Given the description of an element on the screen output the (x, y) to click on. 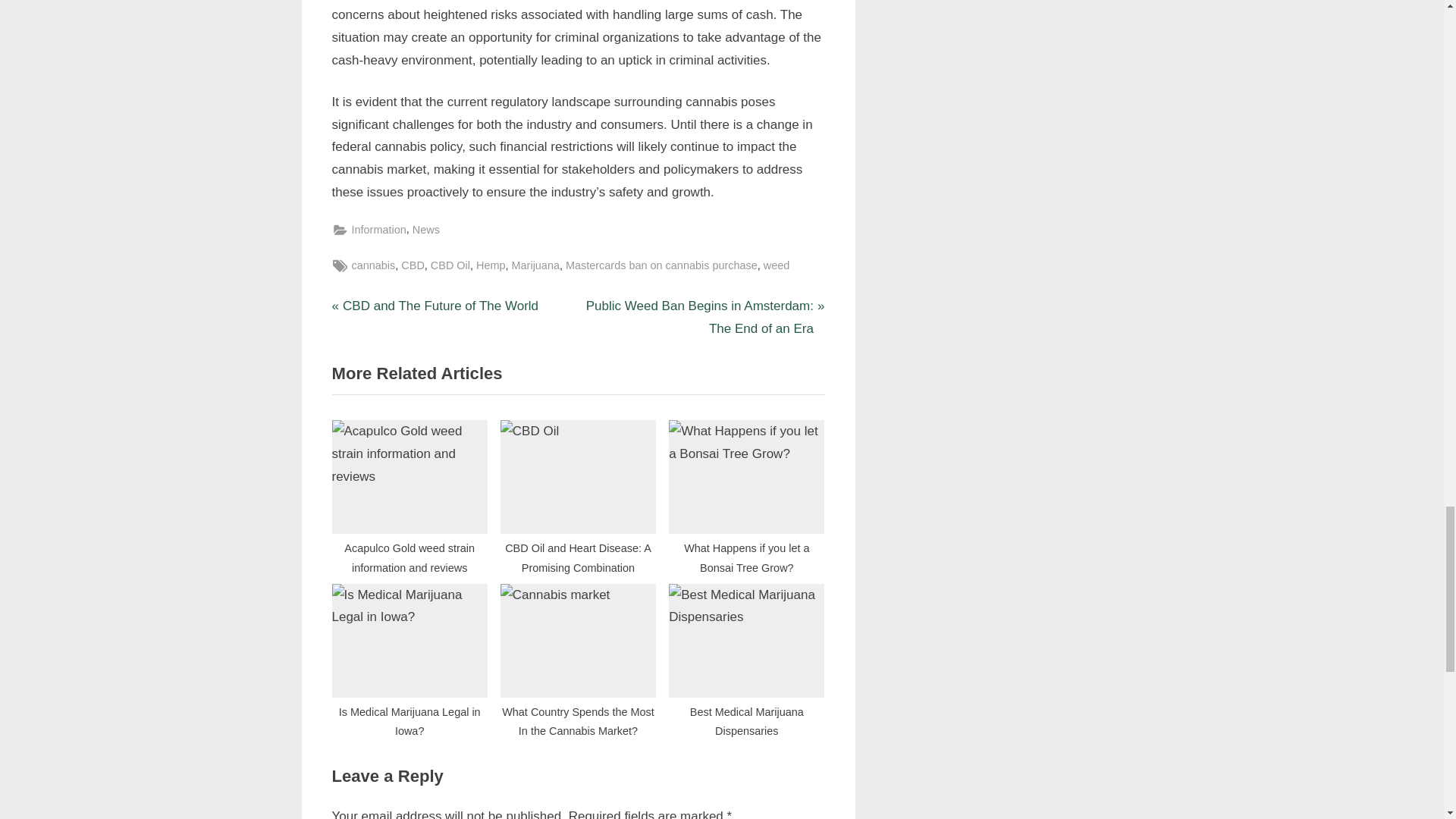
News (425, 229)
cannabis (374, 265)
Mastercards ban on cannabis purchase (661, 265)
Information (379, 229)
CBD Oil (450, 265)
CBD (412, 265)
Hemp (434, 305)
weed (490, 265)
Marijuana (776, 265)
